Given the description of an element on the screen output the (x, y) to click on. 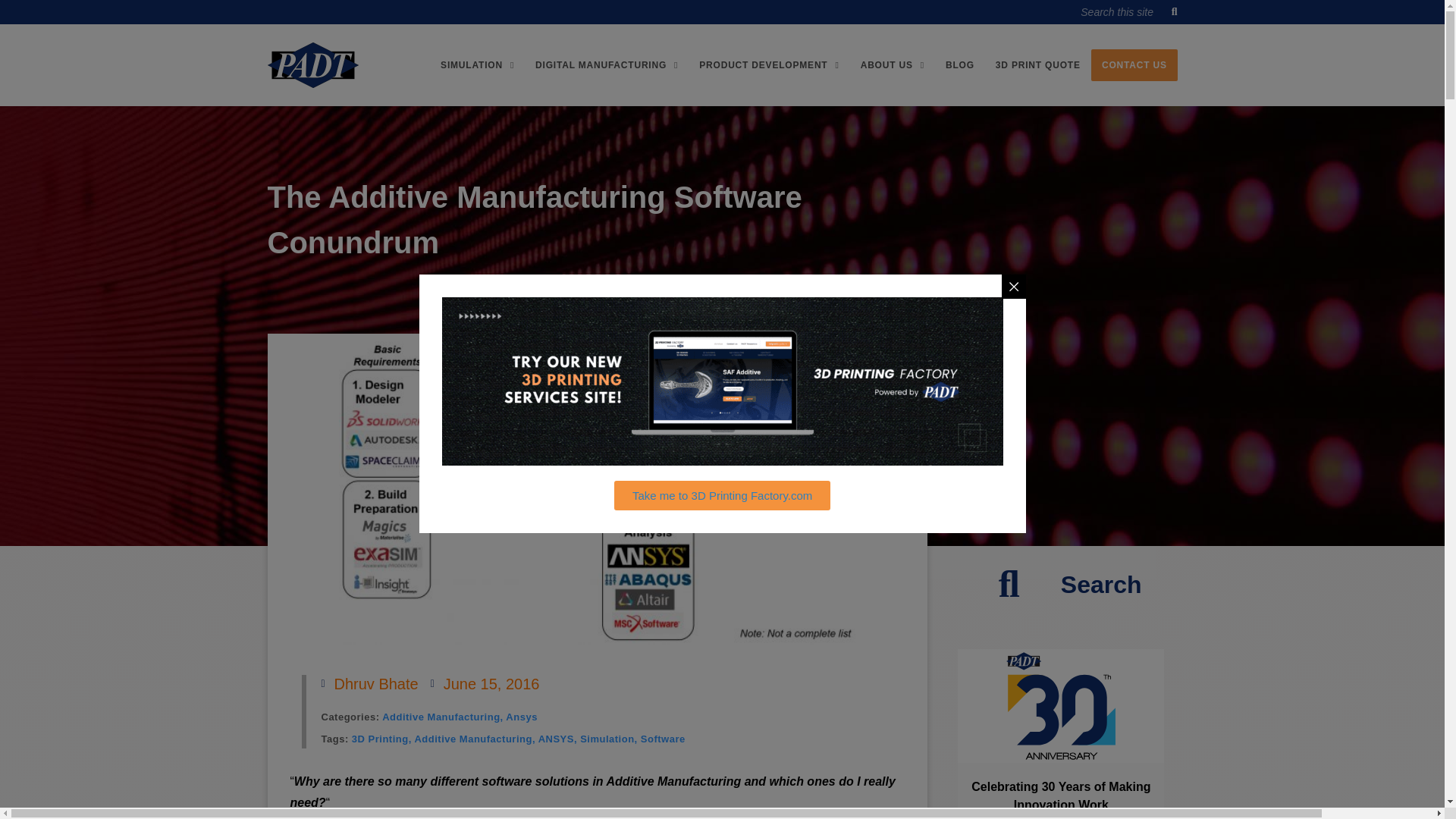
PRODUCT DEVELOPMENT (768, 65)
Search this site (1126, 12)
DIGITAL MANUFACTURING (606, 65)
SIMULATION (476, 65)
ABOUT US (892, 65)
PADT30-Primary (1061, 705)
